Given the description of an element on the screen output the (x, y) to click on. 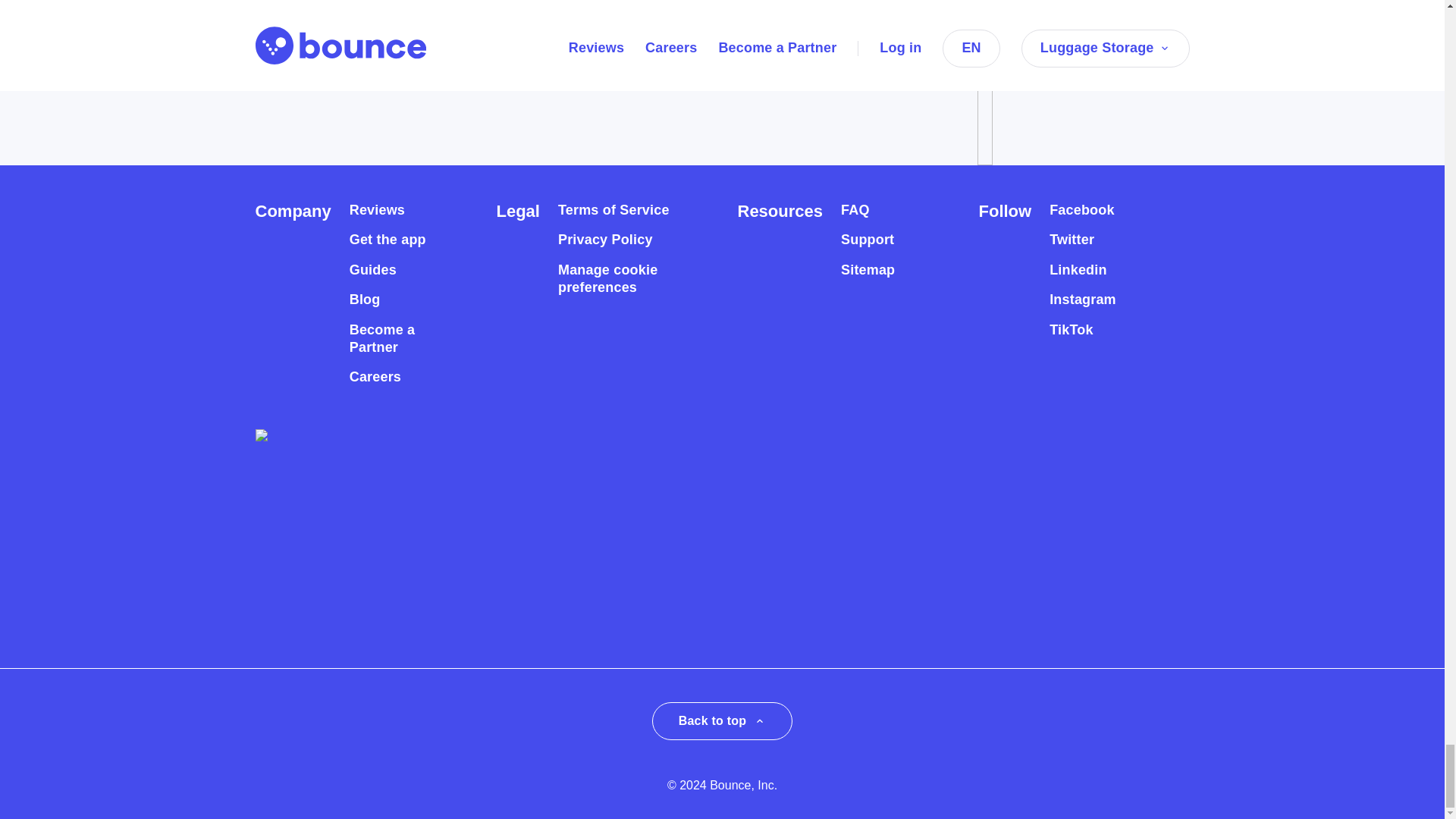
Get the app (387, 239)
Guides (372, 270)
Download (321, 31)
Reviews (376, 210)
